Given the description of an element on the screen output the (x, y) to click on. 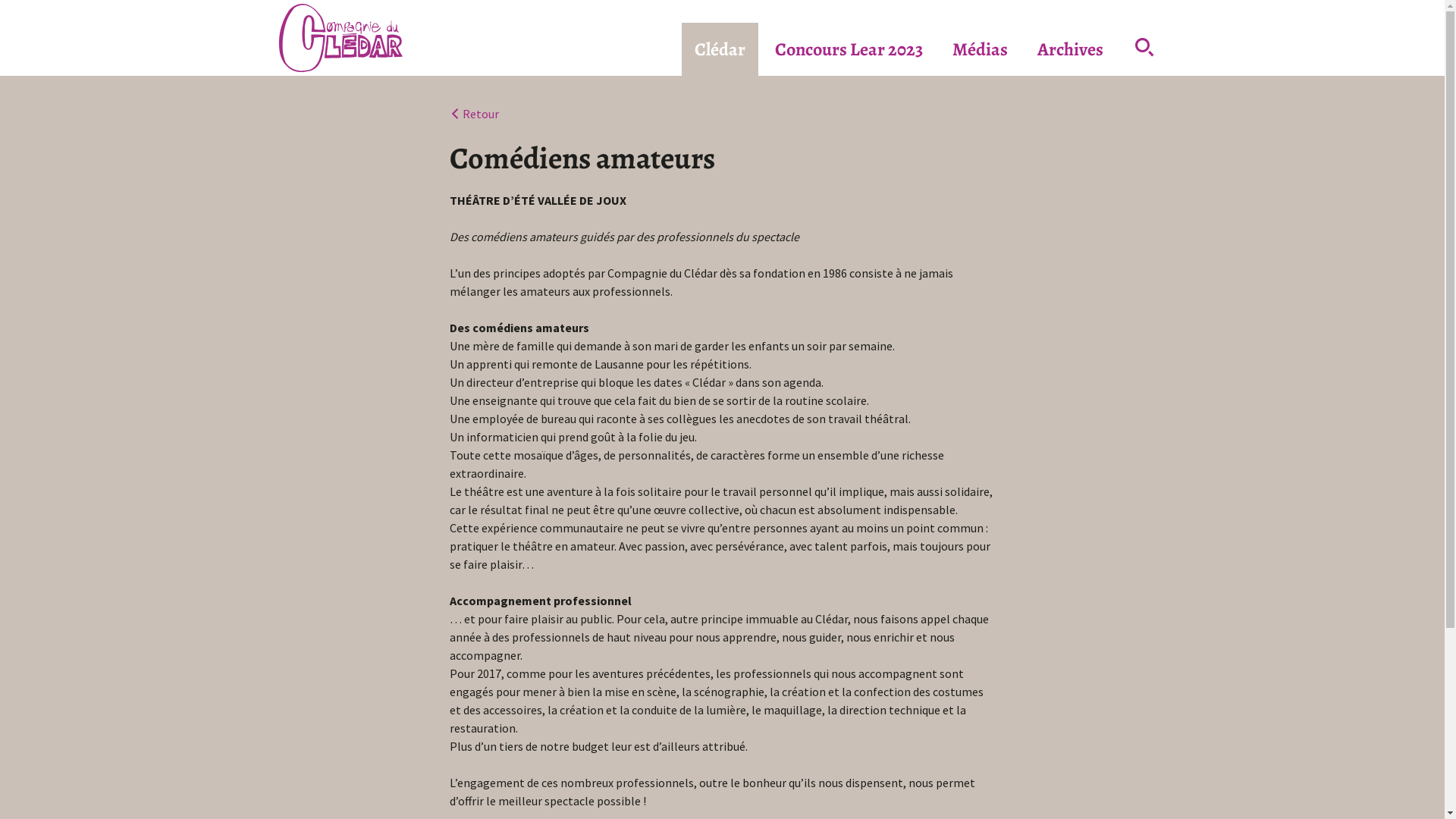
Retour Element type: text (473, 113)
Archives Element type: text (1069, 48)
Concours Lear 2023 Element type: text (848, 48)
